Given the description of an element on the screen output the (x, y) to click on. 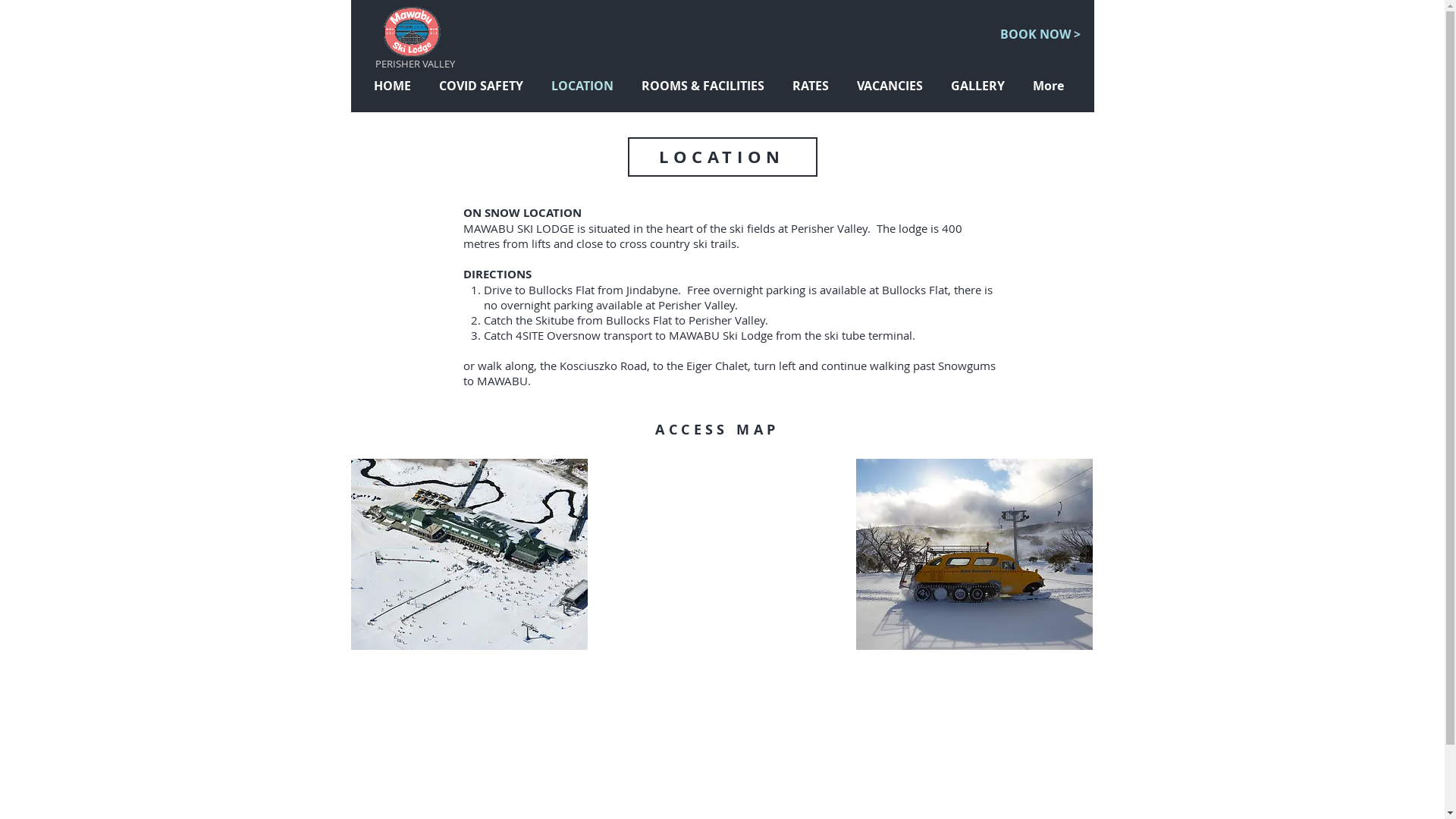
COVID SAFETY Element type: text (483, 85)
RATES Element type: text (813, 85)
GALLERY Element type: text (979, 85)
Google Maps Element type: hover (720, 553)
ROOMS & FACILITIES Element type: text (704, 85)
VACANCIES Element type: text (891, 85)
BOOK NOW > Element type: text (1040, 34)
LOCATION Element type: text (584, 85)
HOME Element type: text (394, 85)
